Given the description of an element on the screen output the (x, y) to click on. 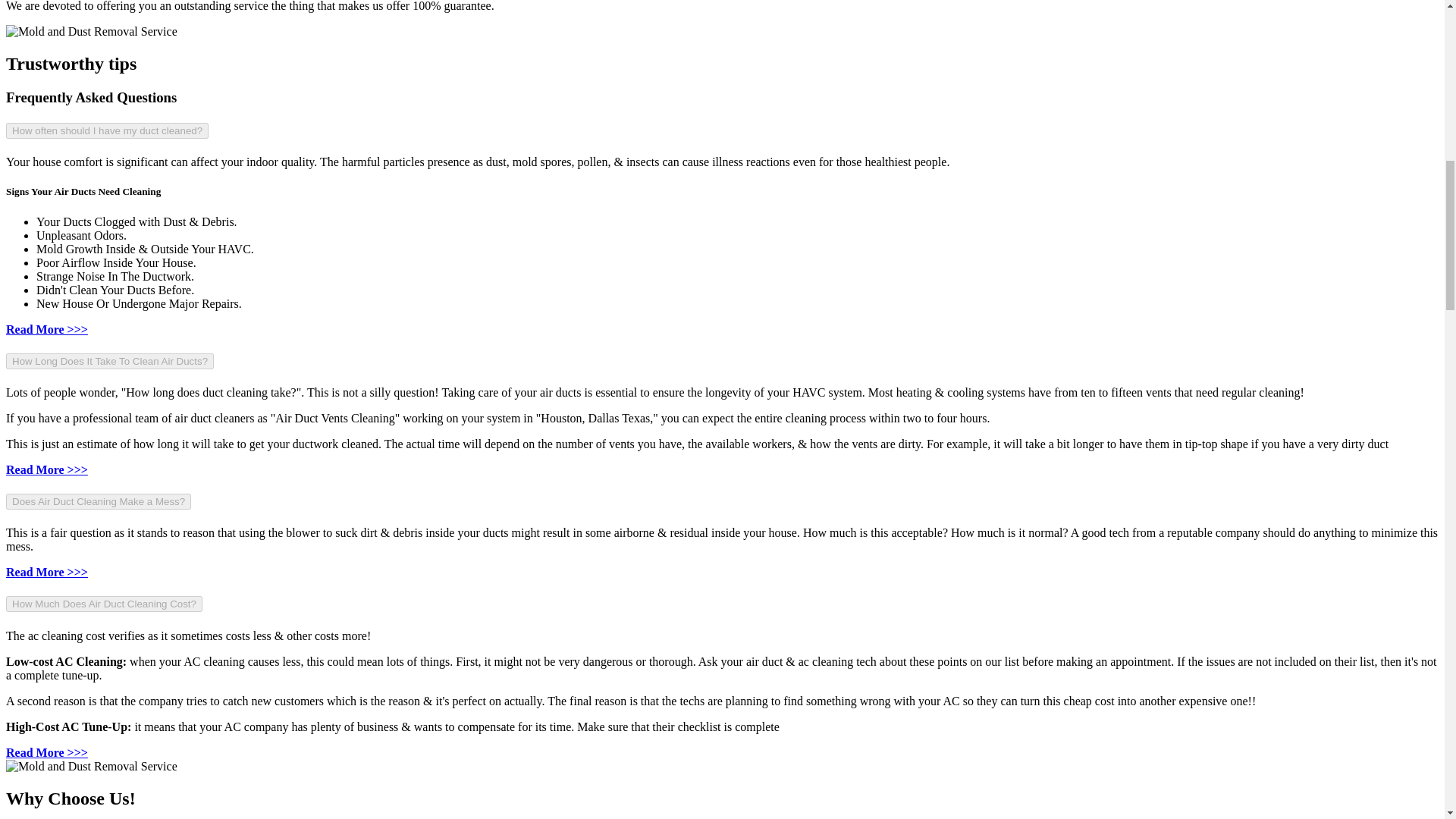
How Much Does Air Duct Cleaning Cost? (103, 603)
How Long Does It Take To Clean Air Ducts? (109, 360)
How often should I have my duct cleaned? (106, 130)
Does Air Duct Cleaning Make a Mess? (97, 501)
